Given the description of an element on the screen output the (x, y) to click on. 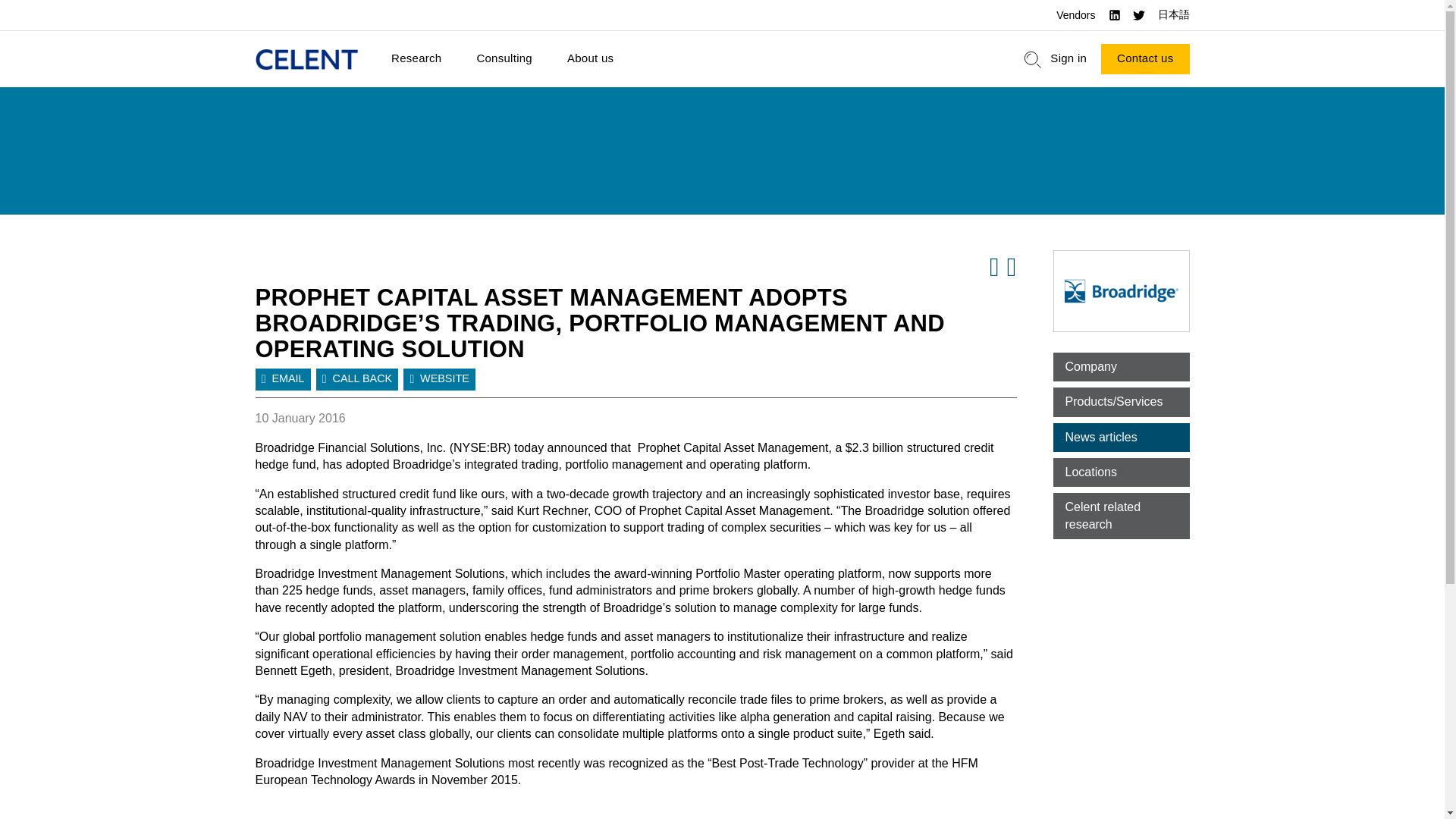
Vendors (1075, 15)
Research (415, 59)
Home (306, 59)
search (1032, 58)
About us (590, 59)
Consulting (503, 59)
Sign in (1068, 59)
Contact us (1144, 59)
Company (1120, 366)
